Given the description of an element on the screen output the (x, y) to click on. 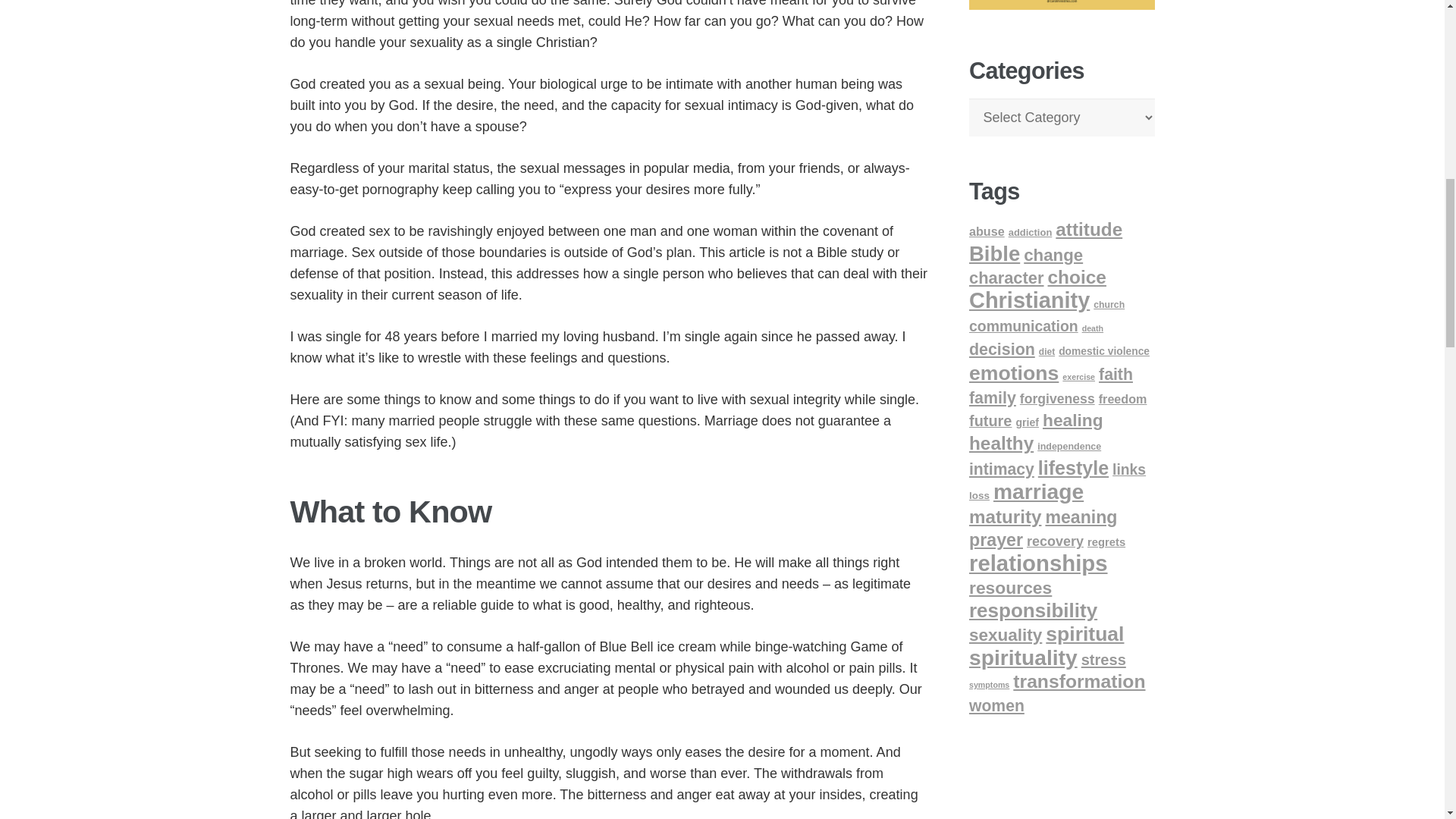
attitude (1088, 229)
addiction (1030, 232)
Back to top (1413, 26)
abuse (986, 231)
